Given the description of an element on the screen output the (x, y) to click on. 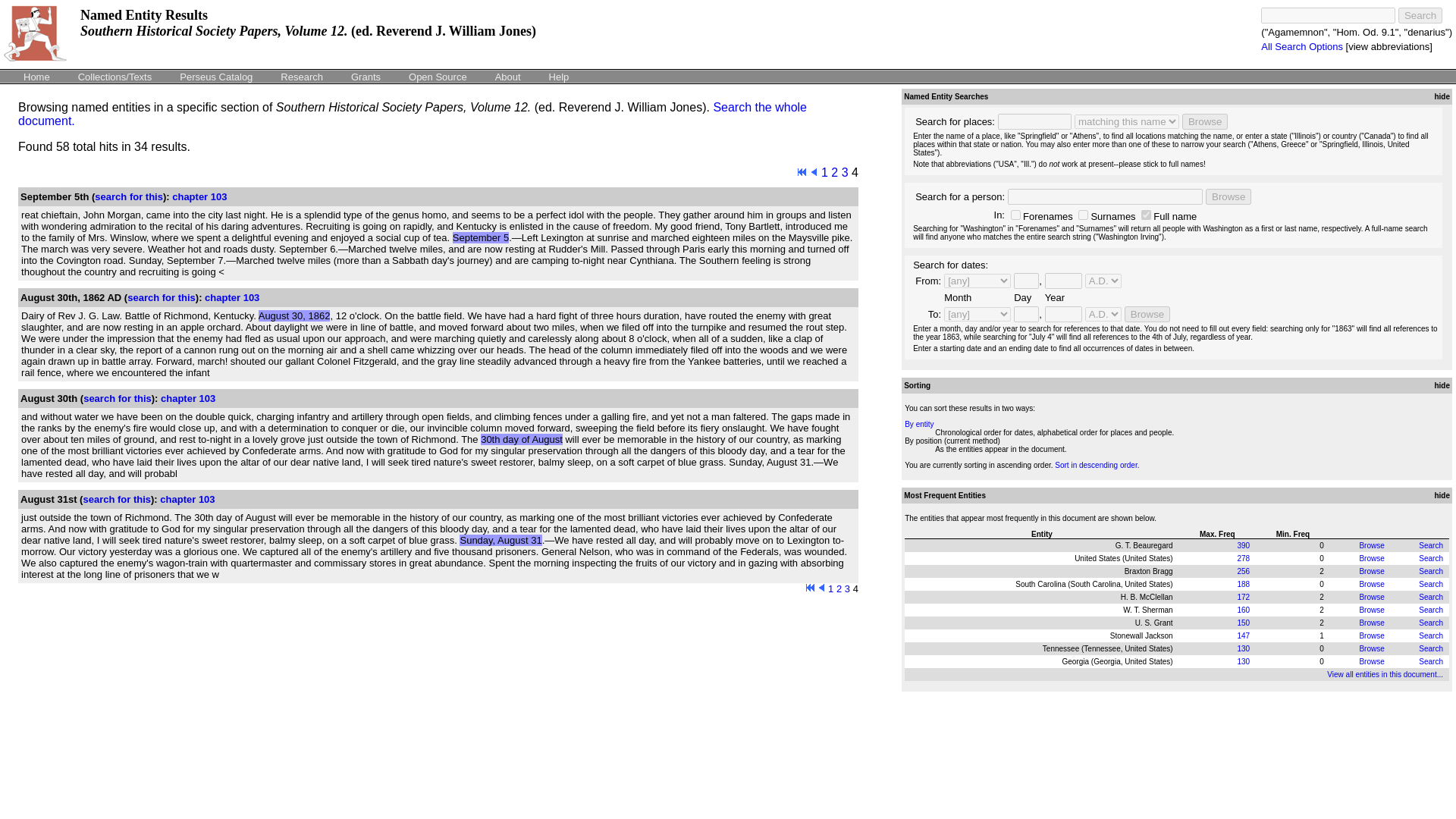
Browse (1204, 121)
Search (1430, 571)
Browse (1227, 196)
Search (1430, 596)
All Search Options (1301, 46)
278 (1242, 558)
Open Source (437, 76)
Search (1430, 623)
About (507, 76)
Browse (1371, 596)
